Given the description of an element on the screen output the (x, y) to click on. 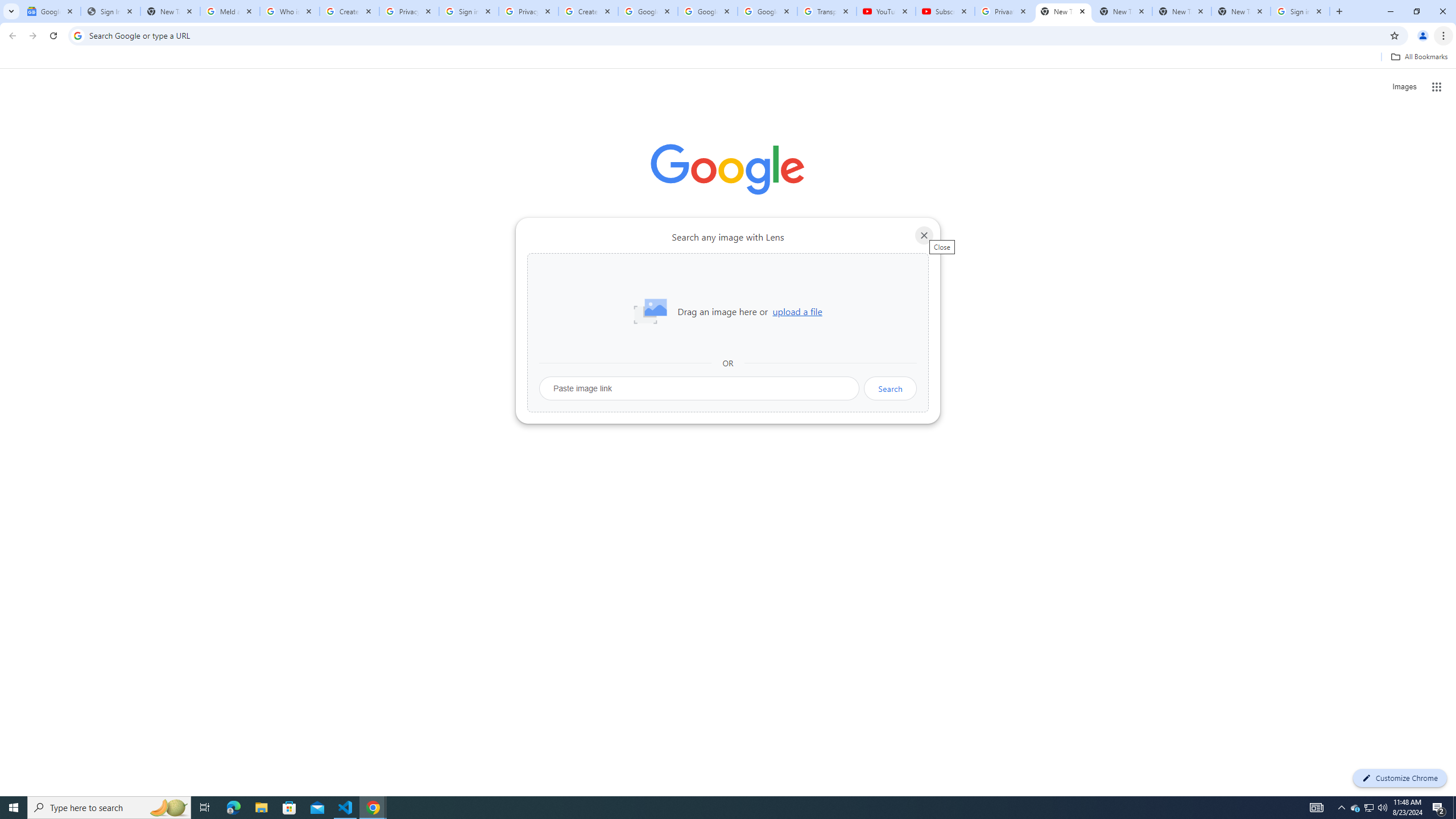
Google News (50, 11)
Create your Google Account (588, 11)
Subscriptions - YouTube (944, 11)
More actions for Sign in shortcut (814, 265)
